Given the description of an element on the screen output the (x, y) to click on. 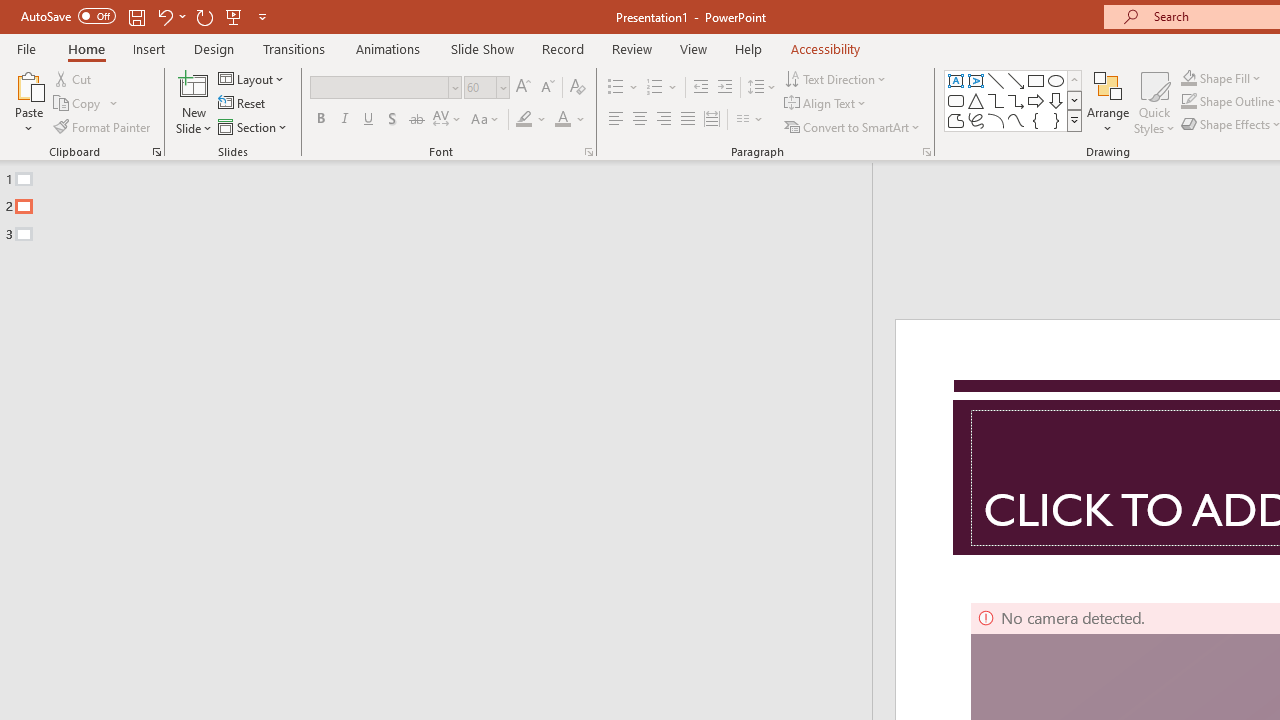
Line (995, 80)
Decrease Font Size (547, 87)
Copy (85, 103)
Review (631, 48)
New Slide (193, 102)
Arrow: Down (1055, 100)
Font Color (569, 119)
Curve (1016, 120)
Font (379, 87)
Shapes (1074, 120)
More Options (1232, 78)
New Slide (193, 84)
Underline (369, 119)
System (10, 11)
Home (86, 48)
